Given the description of an element on the screen output the (x, y) to click on. 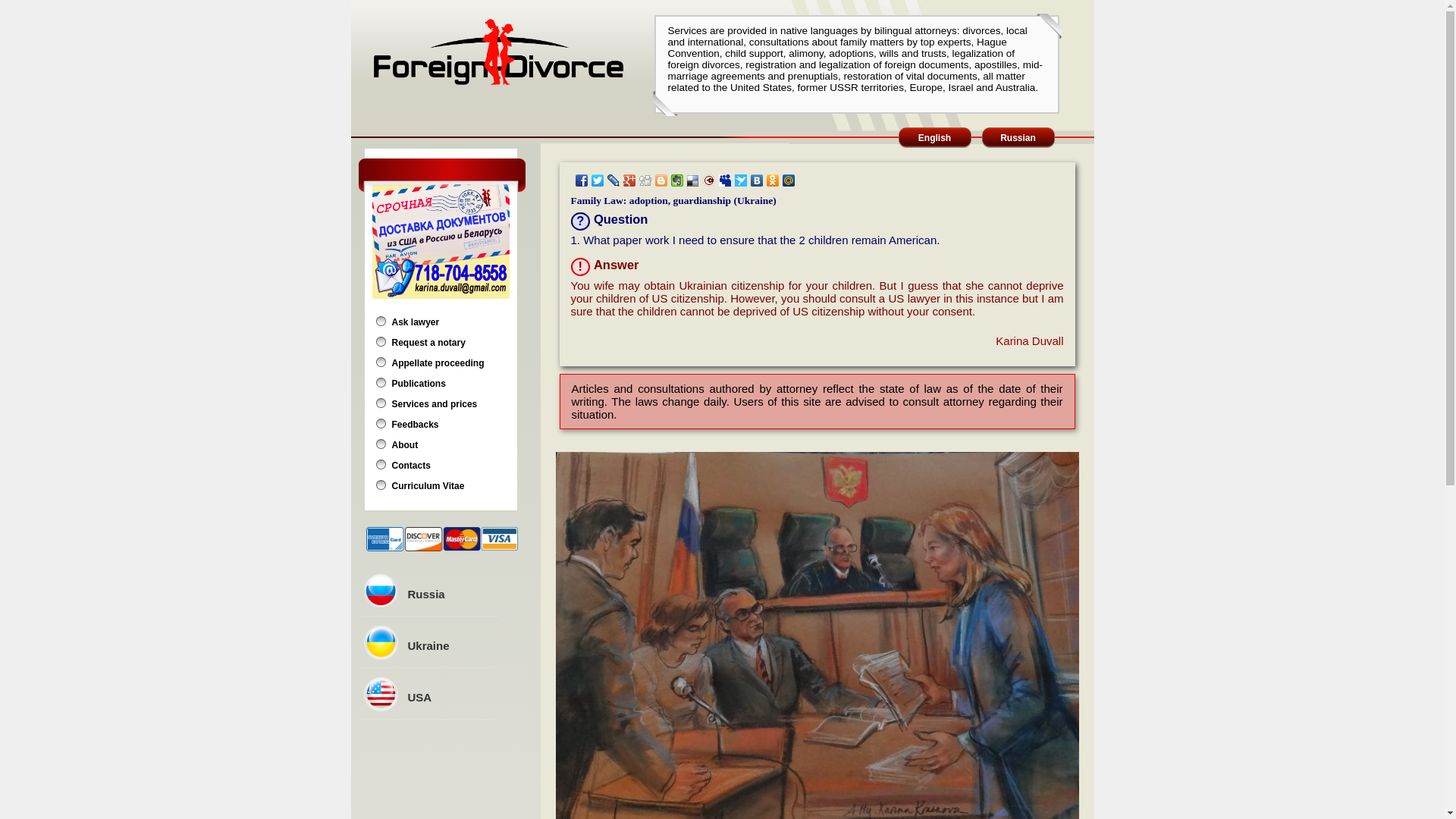
Ukraine (428, 645)
Appellate proceeding (437, 362)
Publications (418, 383)
Feedbacks (414, 424)
Russia (426, 594)
Foreign Divorce (497, 51)
About (404, 444)
Request a notary (427, 342)
English (934, 137)
Contacts (410, 465)
